Given the description of an element on the screen output the (x, y) to click on. 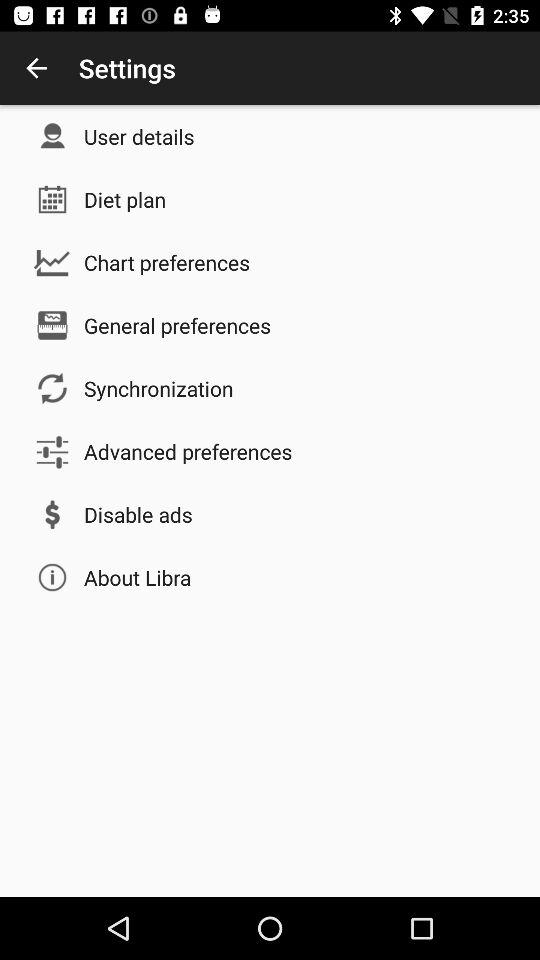
swipe until synchronization app (158, 388)
